Given the description of an element on the screen output the (x, y) to click on. 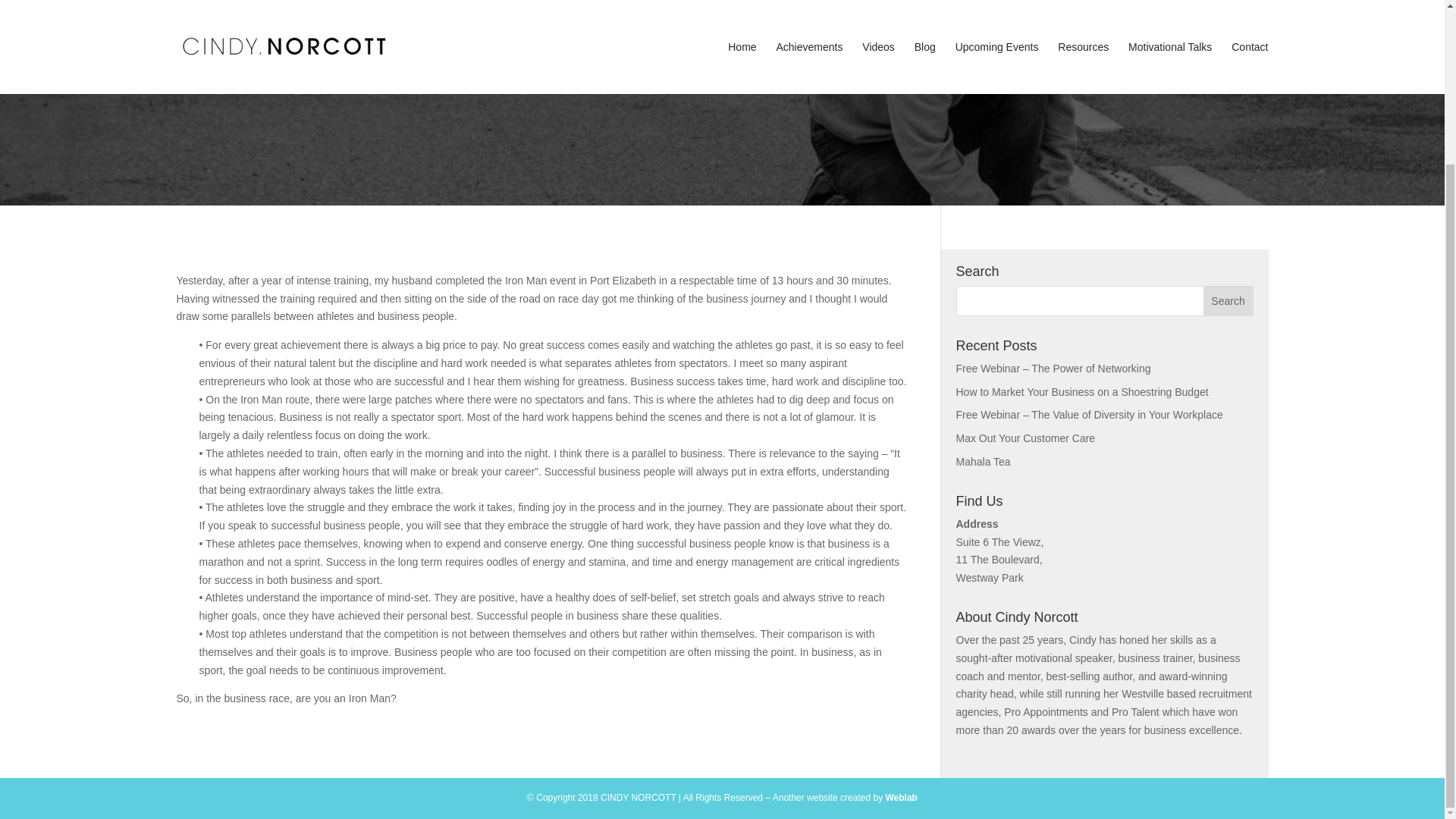
BLOG POSTS (745, 62)
Weblab (901, 797)
CINDY (617, 62)
Max Out Your Customer Care (1024, 438)
web design (901, 797)
How to Market Your Business on a Shoestring Budget (1081, 391)
Search (1228, 300)
Search (1228, 300)
Mahala Tea (982, 461)
0 COMMENTS (824, 62)
Posts by cindy (617, 62)
